Given the description of an element on the screen output the (x, y) to click on. 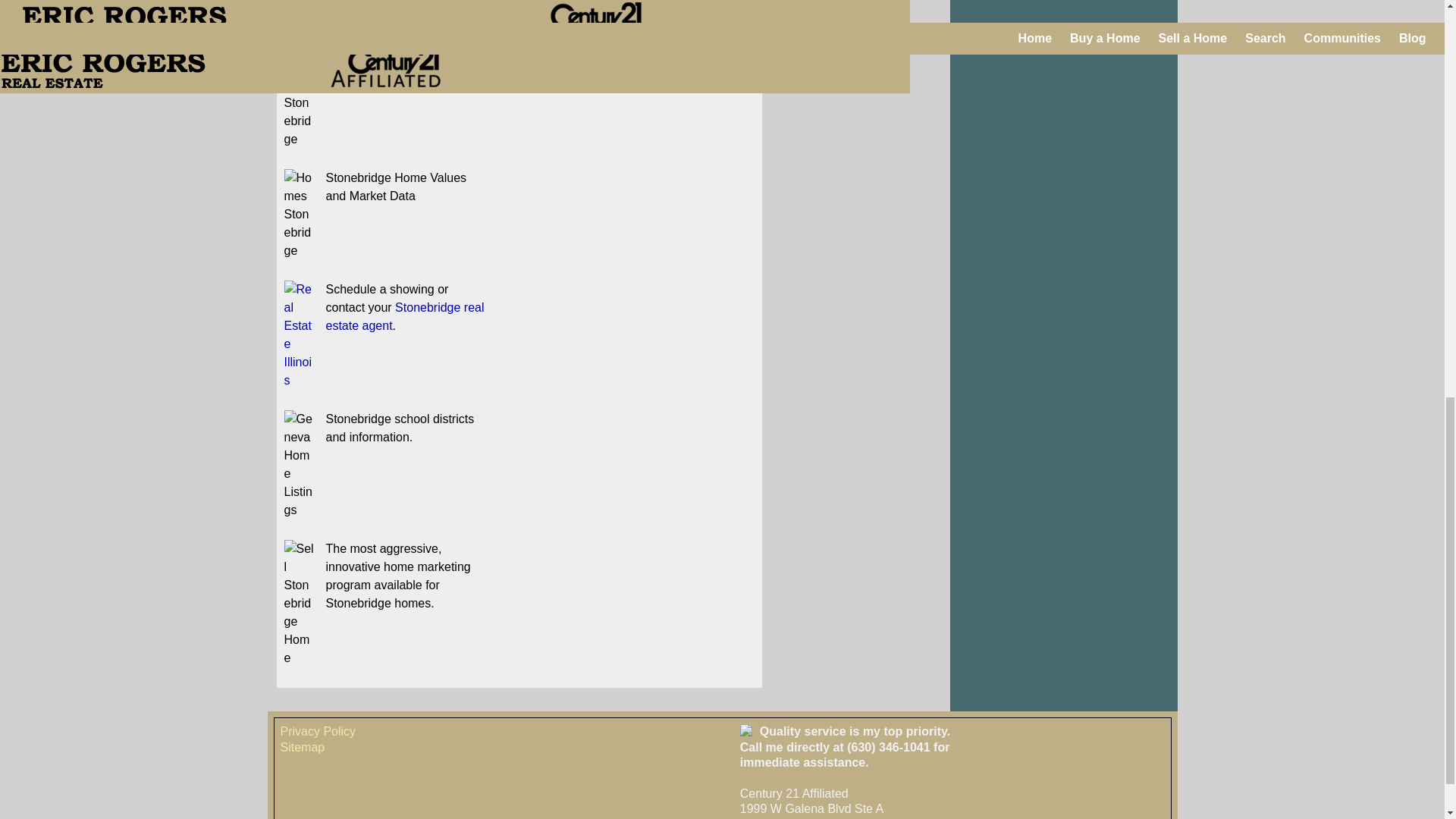
Sitemap (302, 747)
Stonebridge real estate agent (405, 316)
Privacy Policy (318, 730)
